Given the description of an element on the screen output the (x, y) to click on. 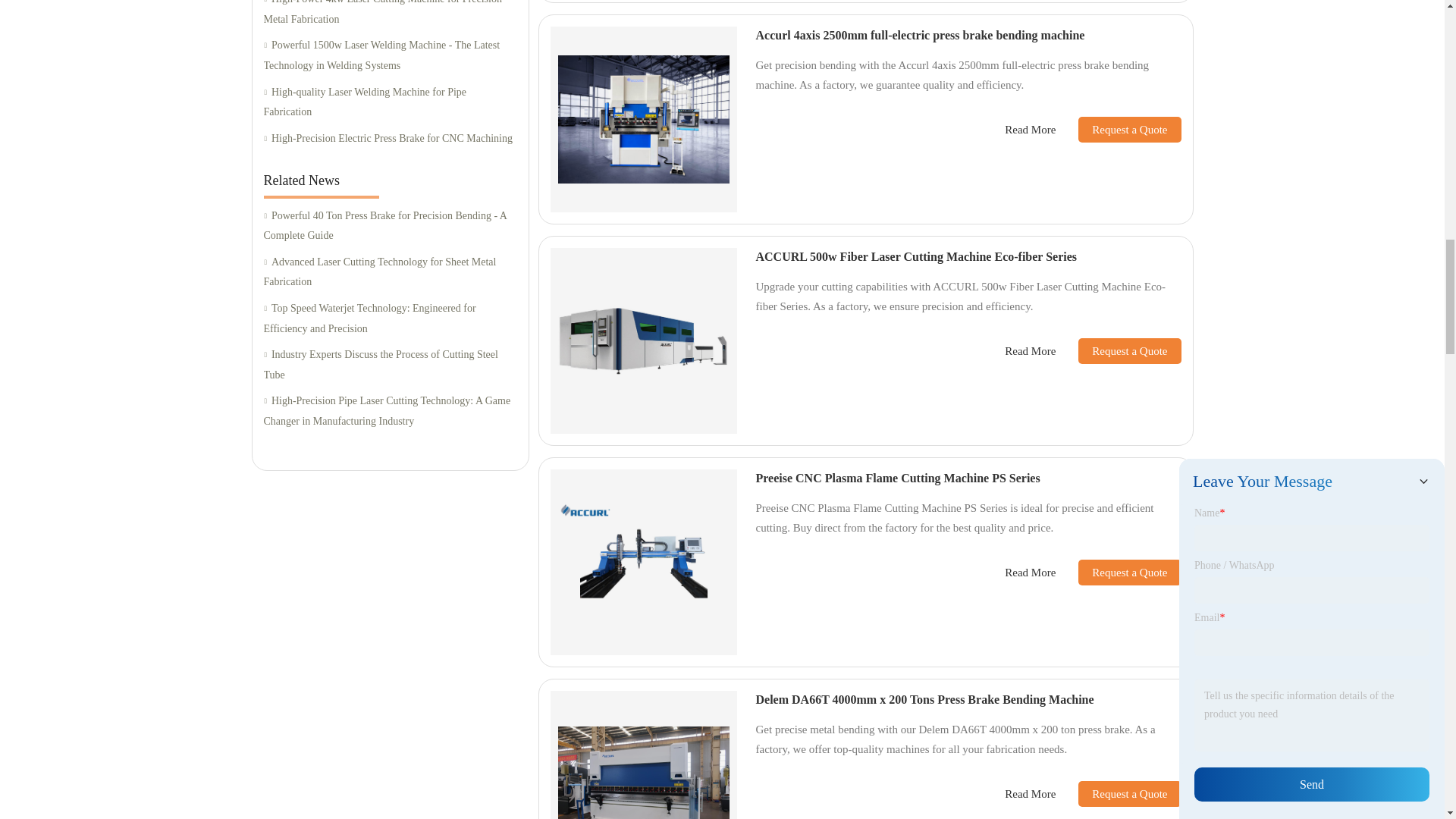
High-quality Laser Welding Machine for Pipe Fabrication (389, 102)
High-Precision Electric Press Brake for CNC Machining (389, 138)
Industry Experts Discuss the Process of Cutting Steel Tube (389, 364)
